Given the description of an element on the screen output the (x, y) to click on. 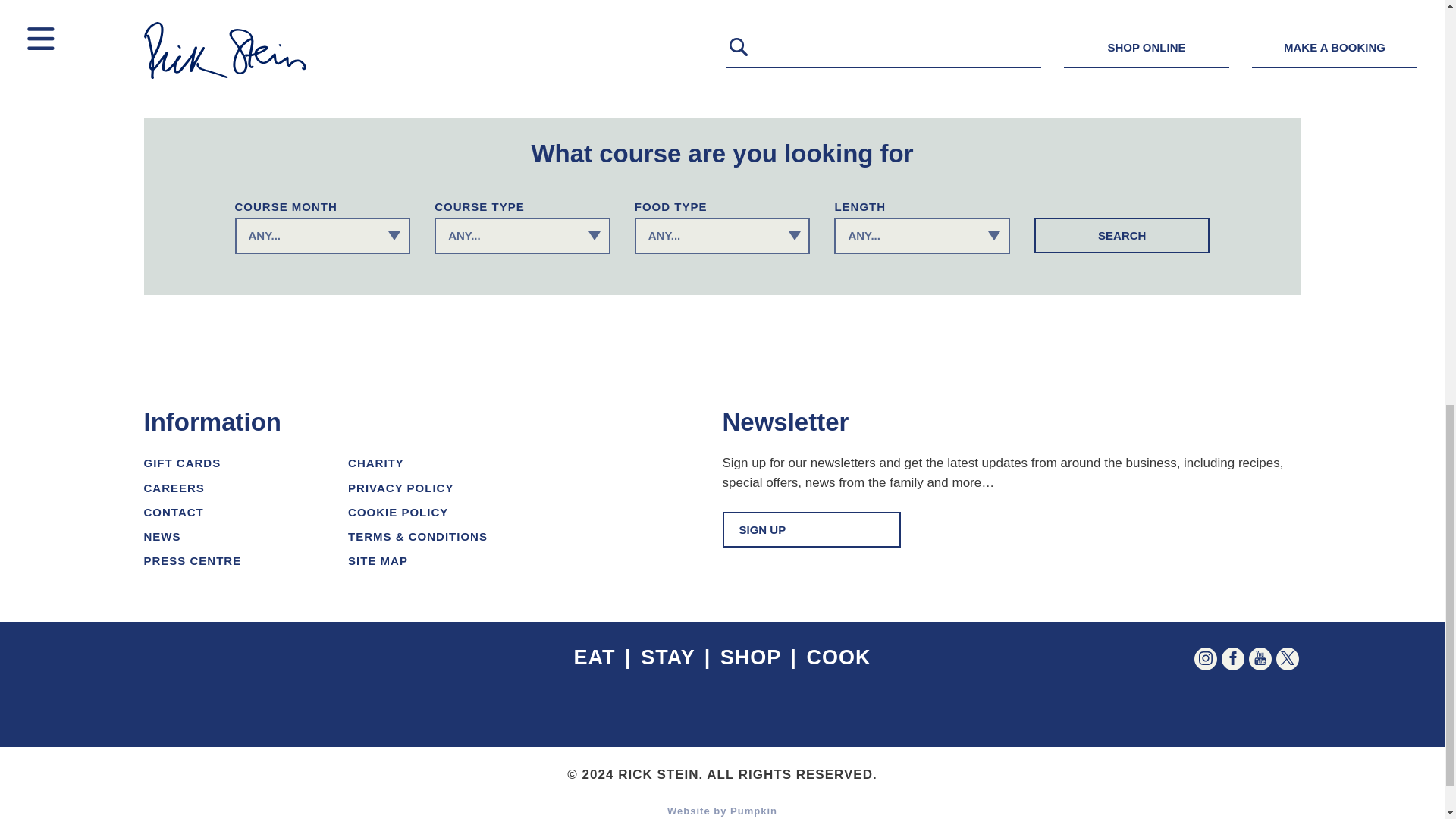
Instagram (1204, 658)
Twitter (1286, 658)
Facebook (1232, 658)
YouTube (1259, 658)
Facebook (1232, 658)
YouTube (1259, 658)
Instagram (1204, 658)
